Given the description of an element on the screen output the (x, y) to click on. 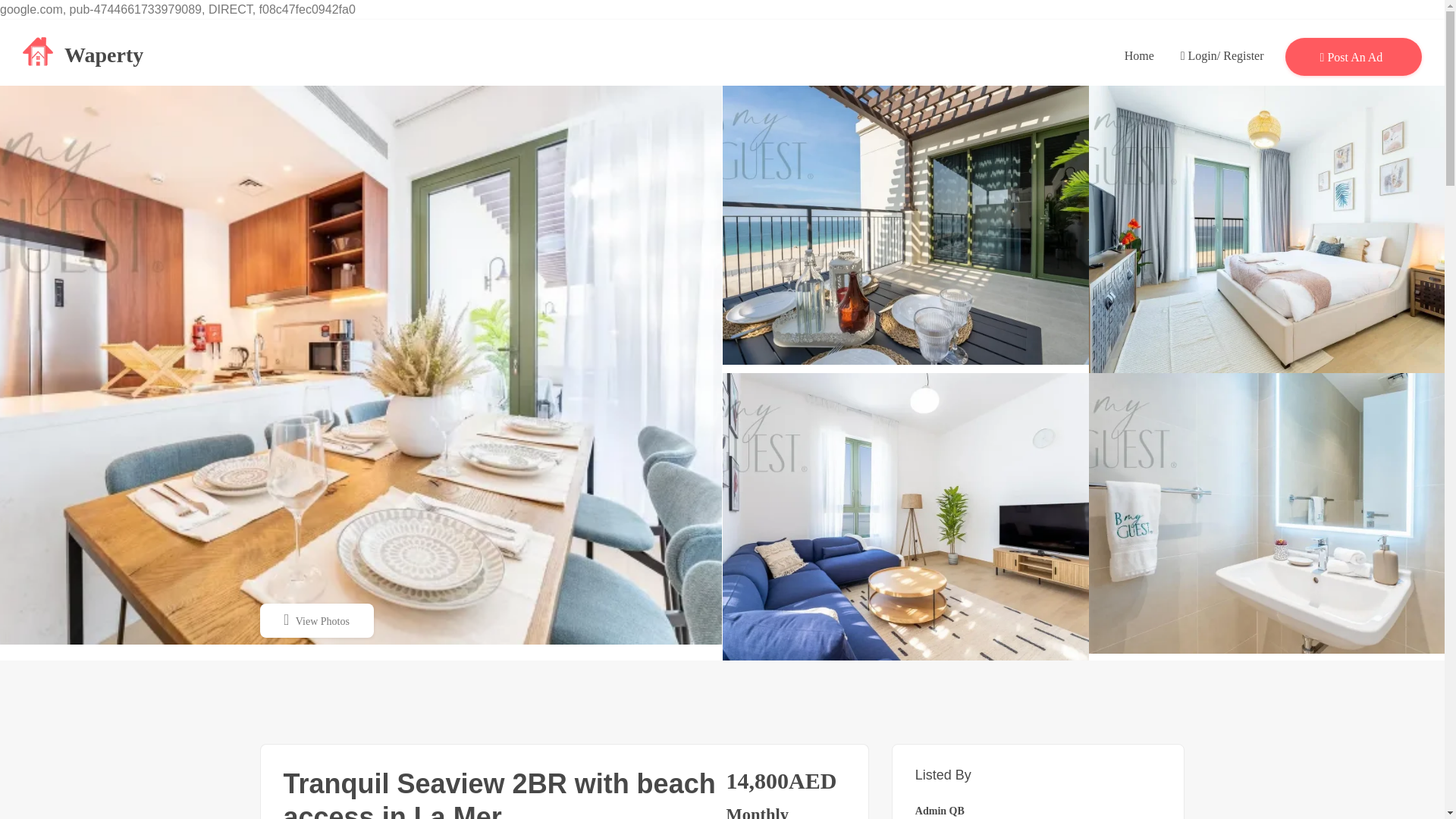
View Photos (315, 620)
Waperty (82, 51)
Post An Ad (1353, 54)
